Given the description of an element on the screen output the (x, y) to click on. 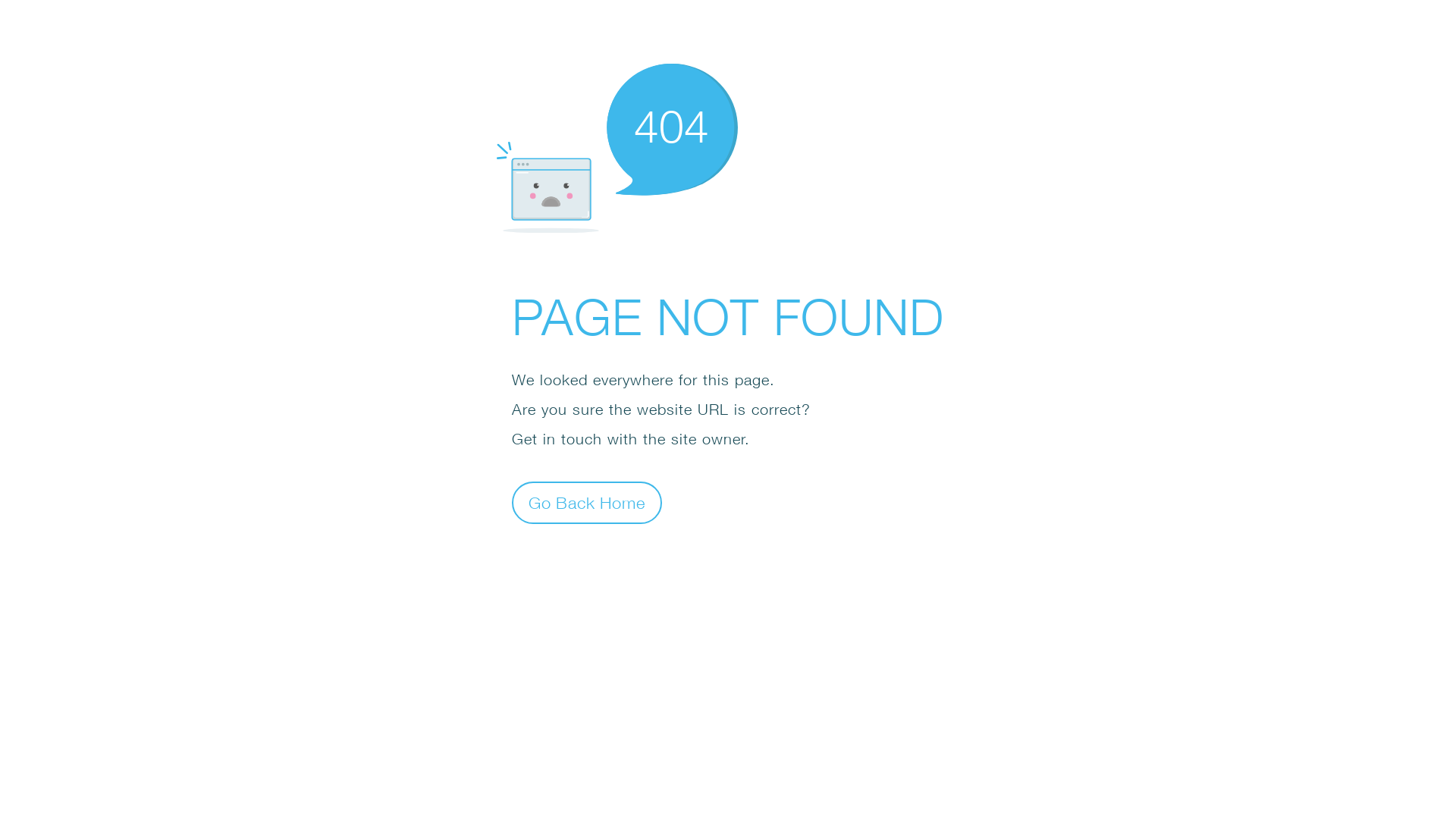
Go Back Home Element type: text (586, 502)
